Given the description of an element on the screen output the (x, y) to click on. 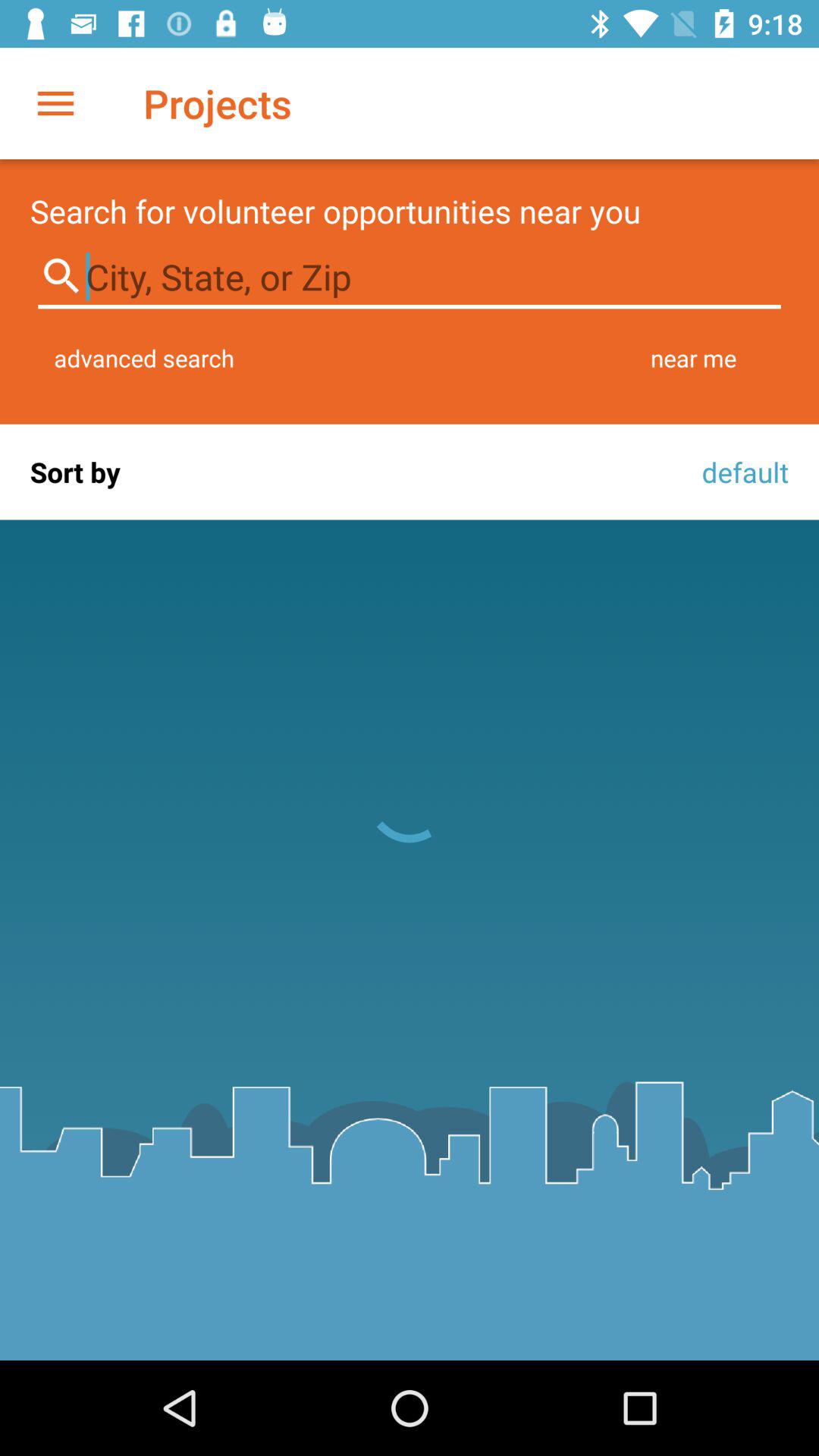
menu options (55, 103)
